Given the description of an element on the screen output the (x, y) to click on. 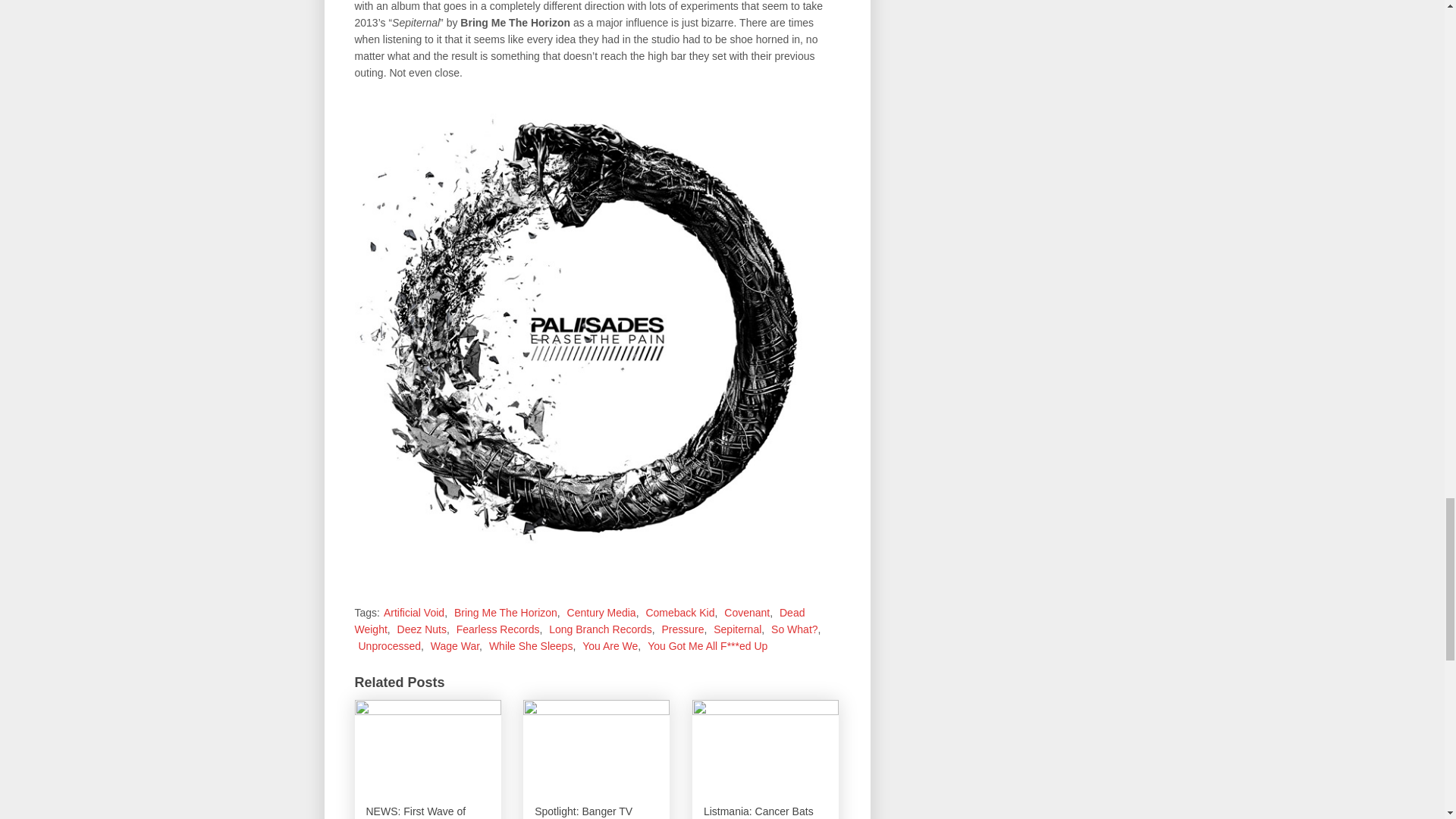
Covenant (746, 612)
Pressure (682, 629)
While She Sleeps (531, 645)
Dead Weight (580, 620)
Spotlight: Banger TV tribute to the fallen! (595, 759)
Century Media (601, 612)
Deez Nuts (421, 629)
Sepiternal (737, 629)
Artificial Void (414, 612)
Fearless Records (498, 629)
